Given the description of an element on the screen output the (x, y) to click on. 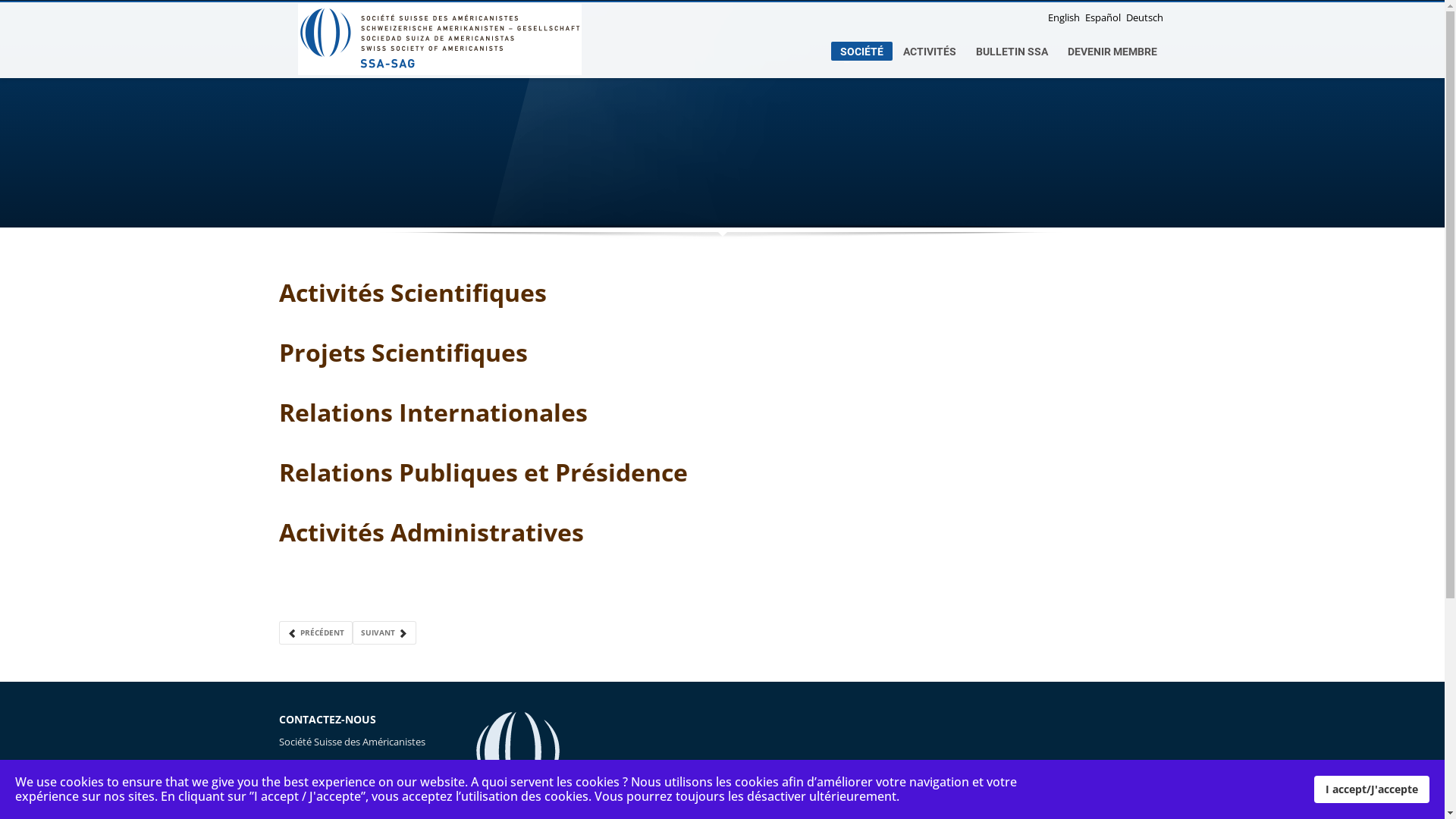
Deutsch Element type: text (1143, 17)
Click to go back Home Element type: hover (438, 39)
English Element type: text (1065, 17)
SUIVANT Element type: text (383, 632)
I accept/J'accepte Element type: text (1371, 789)
DEVENIR MEMBRE Element type: text (1112, 51)
